Given the description of an element on the screen output the (x, y) to click on. 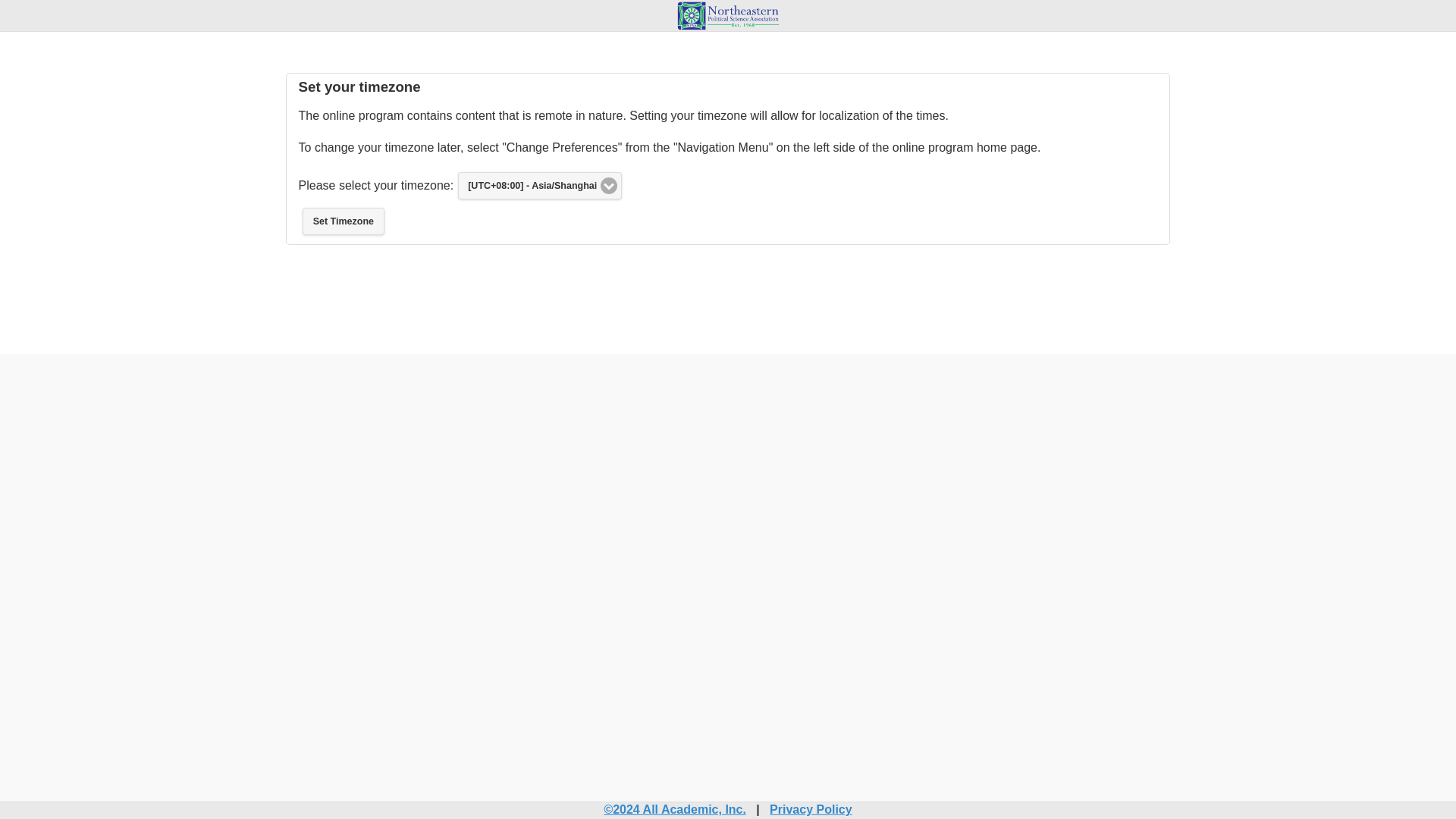
Set Timezone (342, 221)
Set Timezone (342, 221)
Privacy Policy (810, 809)
